Given the description of an element on the screen output the (x, y) to click on. 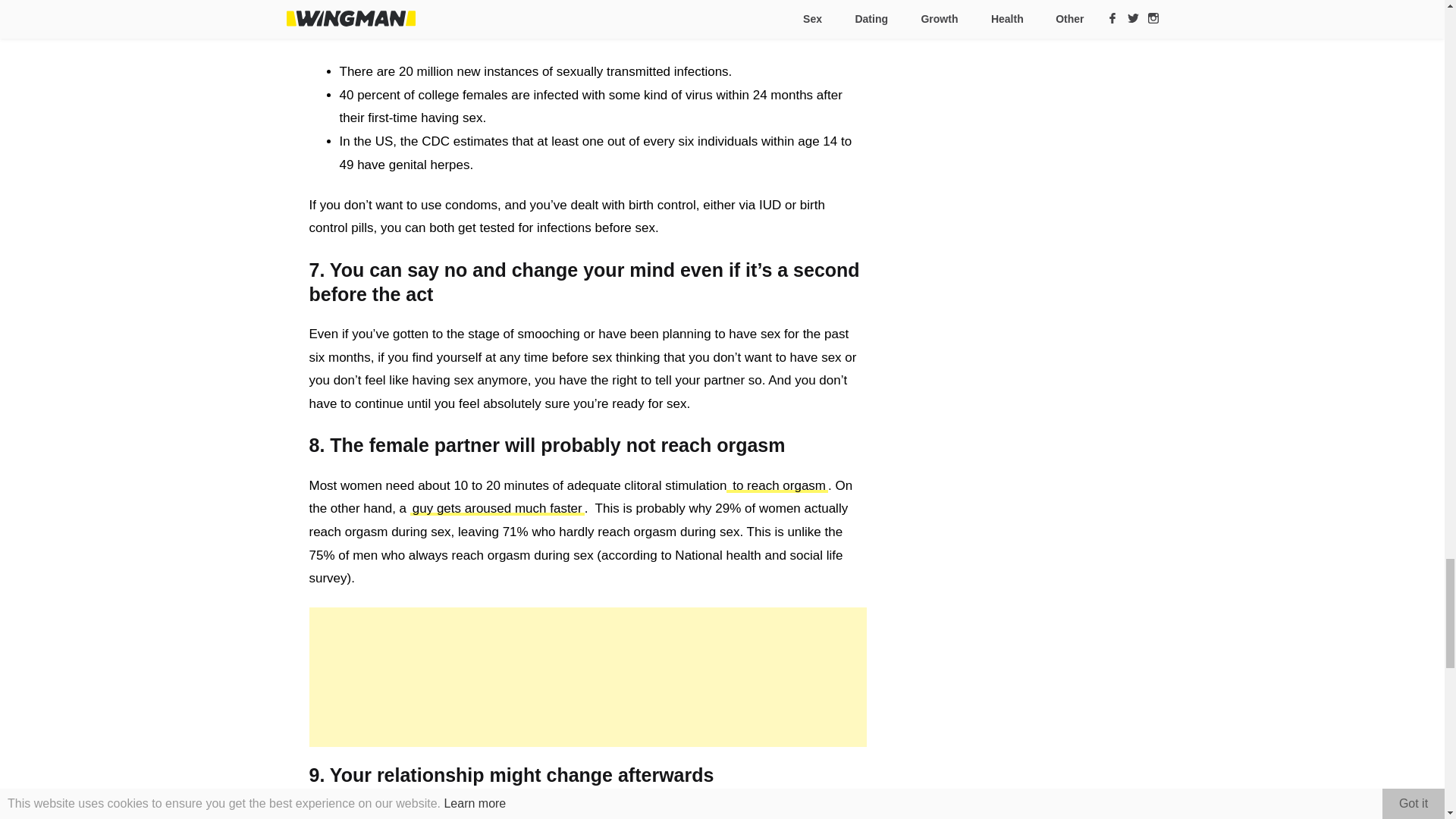
to reach orgasm (777, 485)
Sex statistics (465, 31)
guy gets aroused much faster (497, 508)
